Given the description of an element on the screen output the (x, y) to click on. 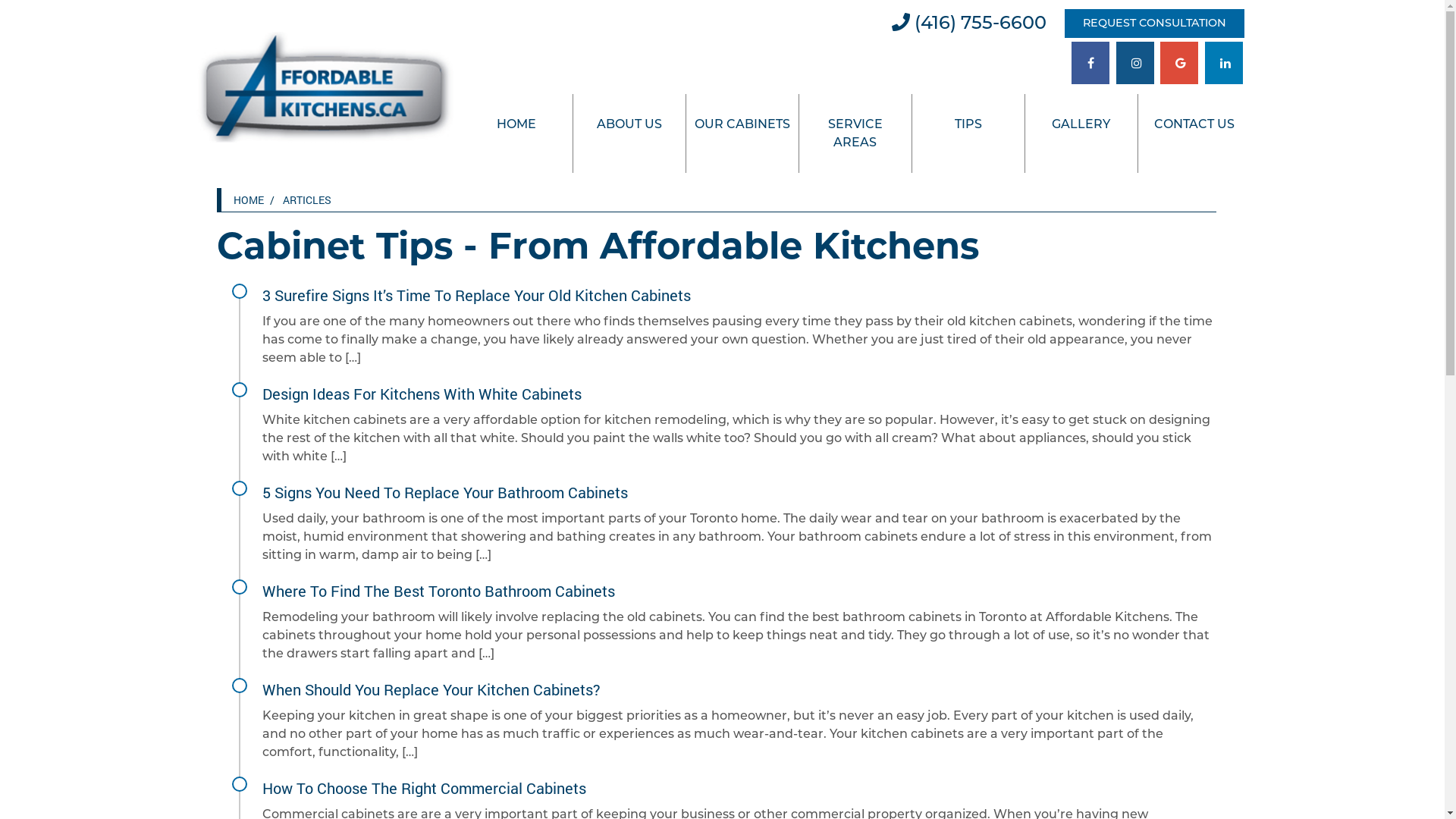
ARTICLES Element type: text (306, 199)
ABOUT US Element type: text (629, 124)
OUR CABINETS Element type: text (741, 124)
5 Signs You Need To Replace Your Bathroom Cabinets Element type: text (444, 492)
TIPS Element type: text (967, 124)
(416) 755-6600 Element type: text (968, 22)
Where To Find The Best Toronto Bathroom Cabinets Element type: text (438, 590)
When Should You Replace Your Kitchen Cabinets? Element type: text (431, 689)
HOME Element type: text (248, 199)
HOME Element type: text (515, 124)
CONTACT US Element type: text (1193, 124)
SERVICE AREAS Element type: text (855, 133)
GALLERY Element type: text (1081, 124)
How To Choose The Right Commercial Cabinets Element type: text (424, 787)
Design Ideas For Kitchens With White Cabinets Element type: text (421, 393)
REQUEST CONSULTATION Element type: text (1154, 23)
